Given the description of an element on the screen output the (x, y) to click on. 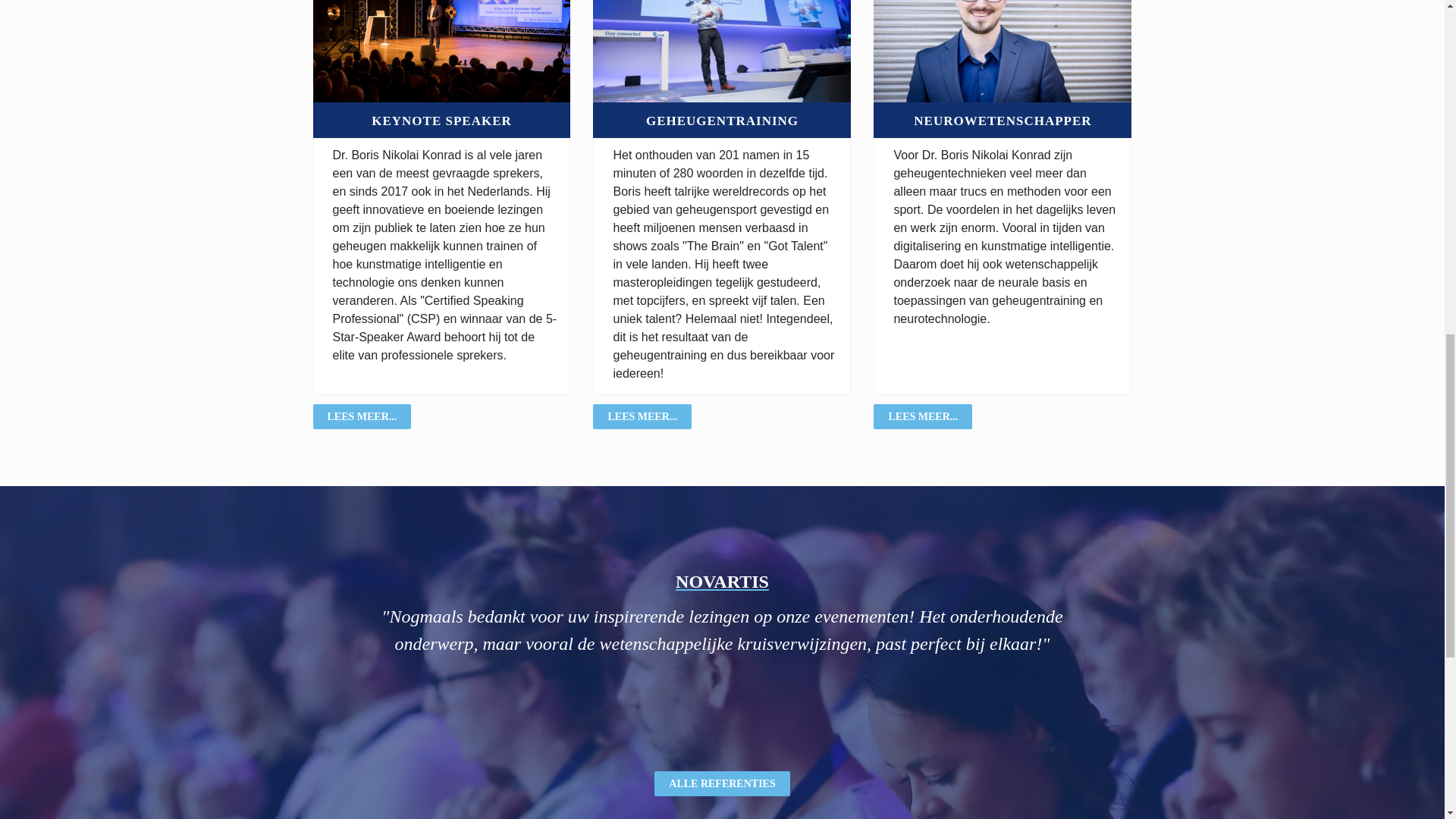
LEES MEER... (922, 416)
GEHEUGENTRAINING (721, 120)
NEUROWETENSCHAPPER (1002, 120)
Novartis (721, 579)
KEYNOTE SPEAKER (441, 120)
LEES MEER... (361, 416)
LEES MEER... (641, 416)
NOVARTIS (721, 579)
